Given the description of an element on the screen output the (x, y) to click on. 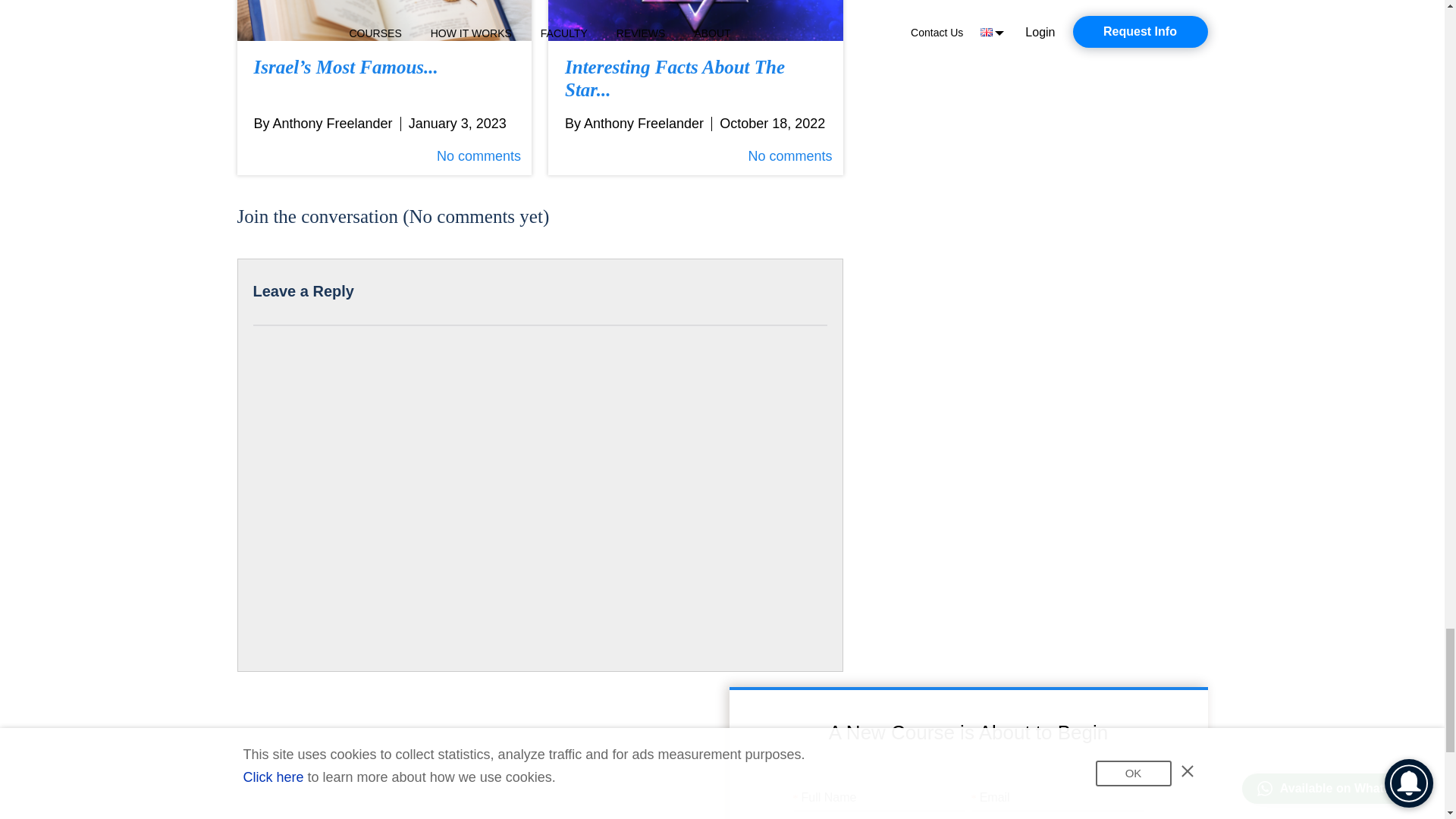
Interesting Facts About The Star Of David (695, 78)
Interesting Facts About The Star Of David (695, 20)
